Given the description of an element on the screen output the (x, y) to click on. 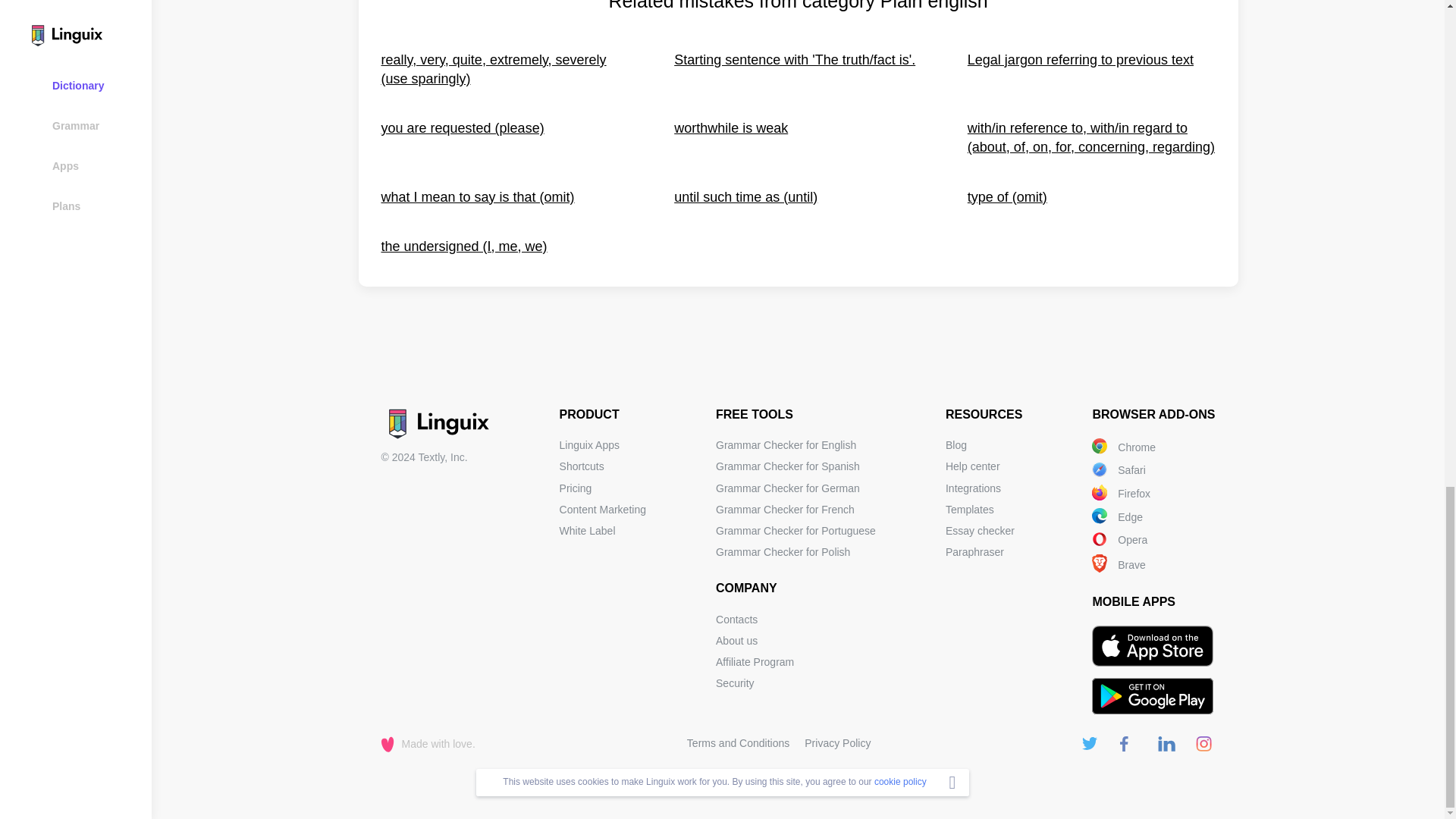
worthwhile is weak (797, 137)
Shortcuts (581, 466)
Paraphraser (974, 551)
Grammar Checker for Spanish (788, 466)
Grammar Checker for German (788, 488)
Grammar Checker for English (786, 444)
Grammar Checker for Polish (783, 551)
Essay checker (979, 530)
Legal jargon referring to previous text (1091, 69)
Grammar Checker for French (785, 509)
